Given the description of an element on the screen output the (x, y) to click on. 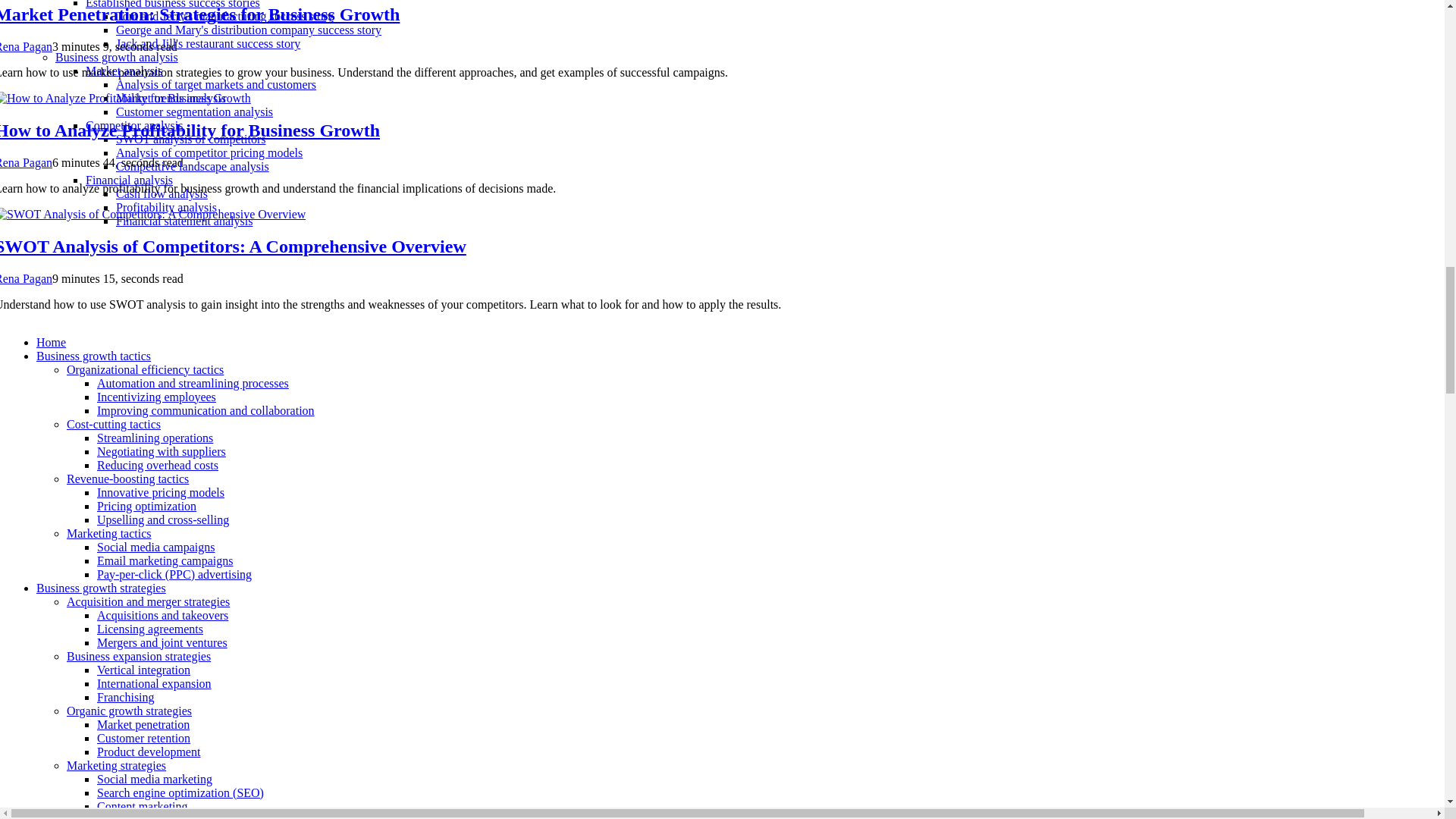
Posts by Rena Pagan (26, 277)
Posts by Rena Pagan (26, 162)
Posts by Rena Pagan (26, 46)
